Given the description of an element on the screen output the (x, y) to click on. 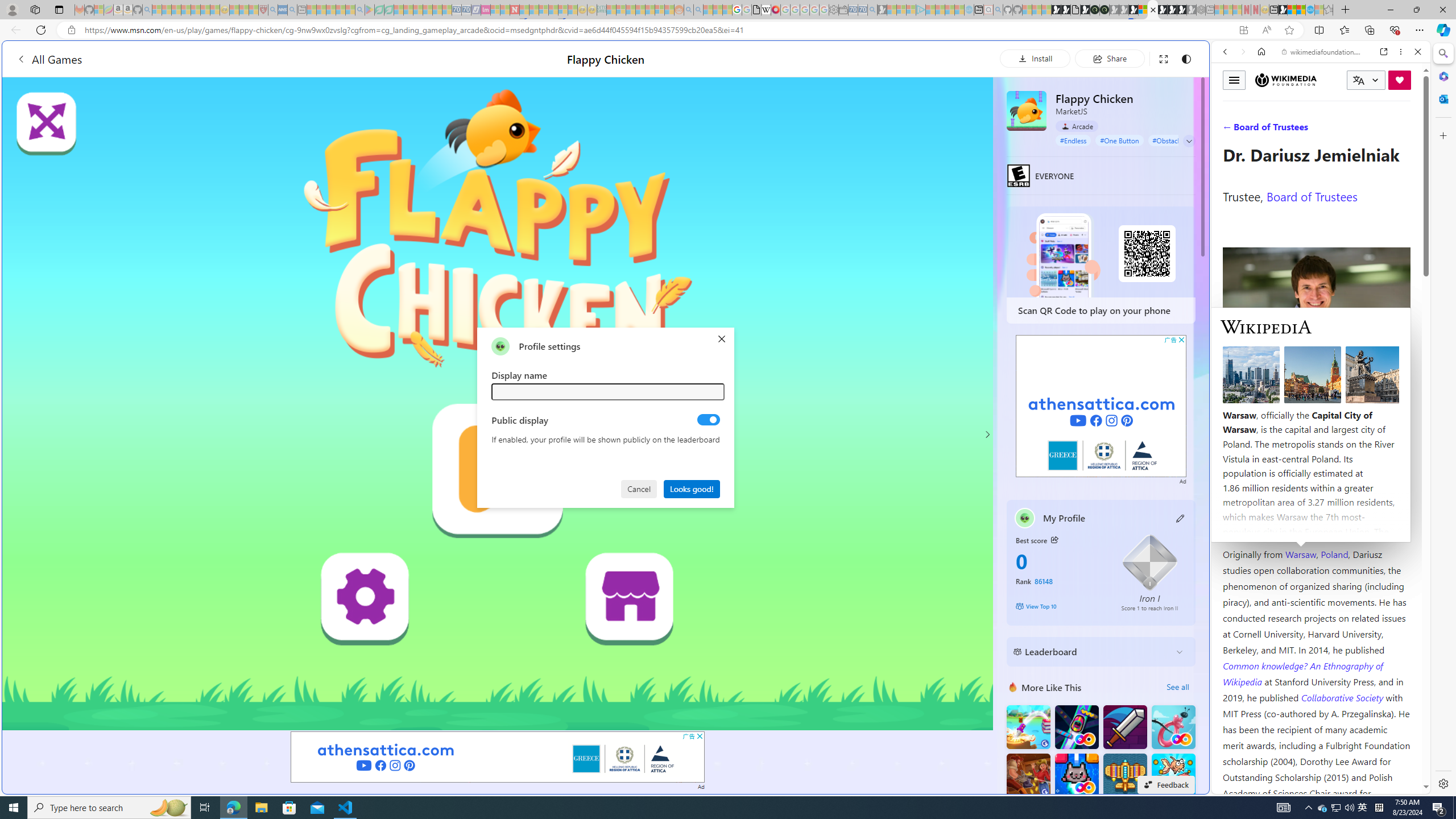
Wiktionary (1315, 380)
Warsaw (1300, 554)
Close Outlook pane (1442, 98)
Close (1417, 51)
More options (1401, 51)
Trusted Community Engagement and Contributions | Guidelines (524, 9)
#Endless (1073, 140)
New tab (727, 683)
